Given the description of an element on the screen output the (x, y) to click on. 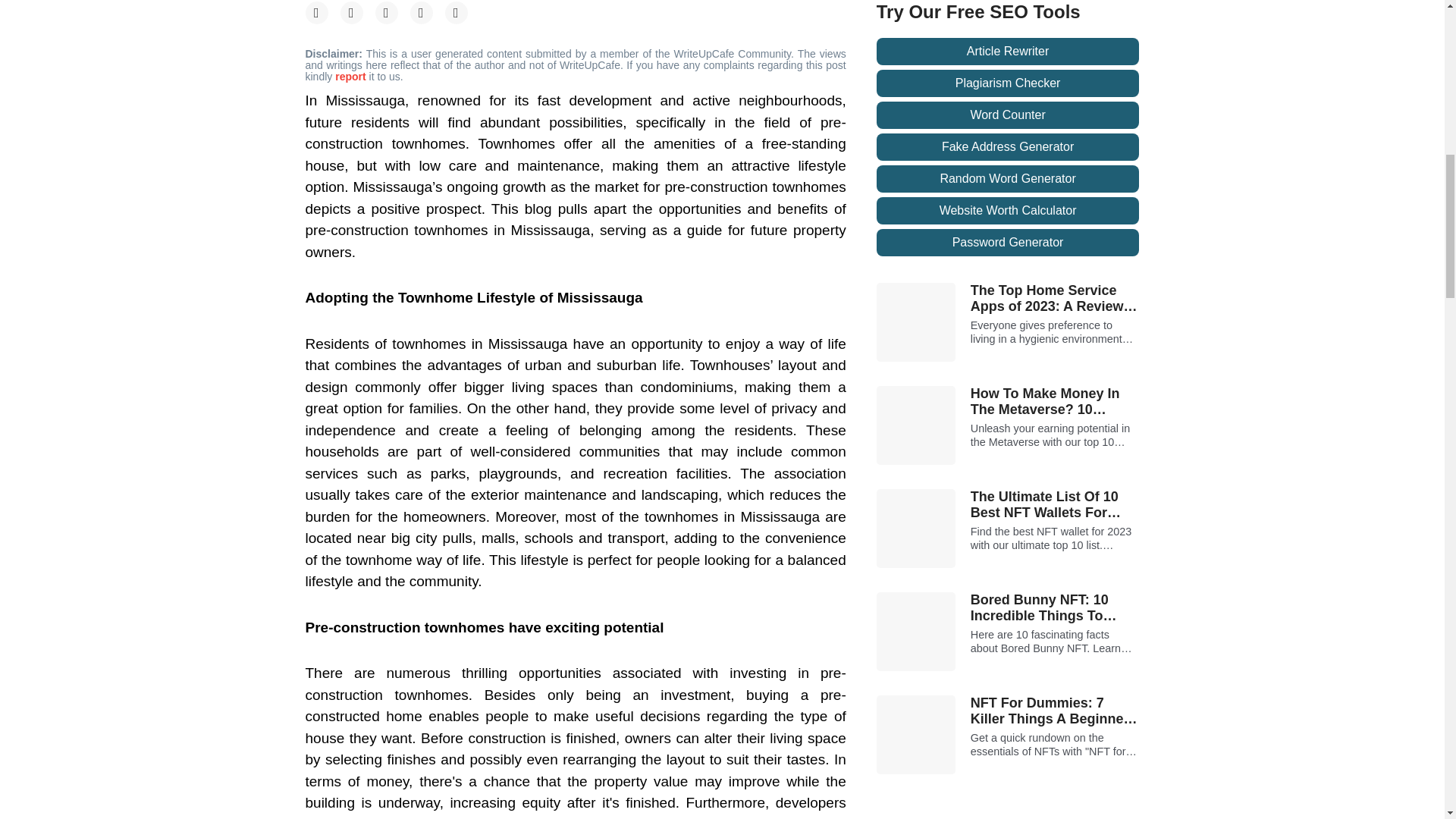
Website Worth Calculator (1008, 210)
Fake Address Generator (1008, 146)
The Ultimate List Of 10 Best NFT Wallets For 2023 (1055, 504)
Random Word Generator (1008, 178)
Password Generator (1008, 242)
Word Counter (1008, 114)
Article Rewriter (1008, 51)
The Top Home Service Apps of 2023: A Review and Comparison (1055, 298)
Plagiarism Checker (1008, 83)
report (351, 76)
